Given the description of an element on the screen output the (x, y) to click on. 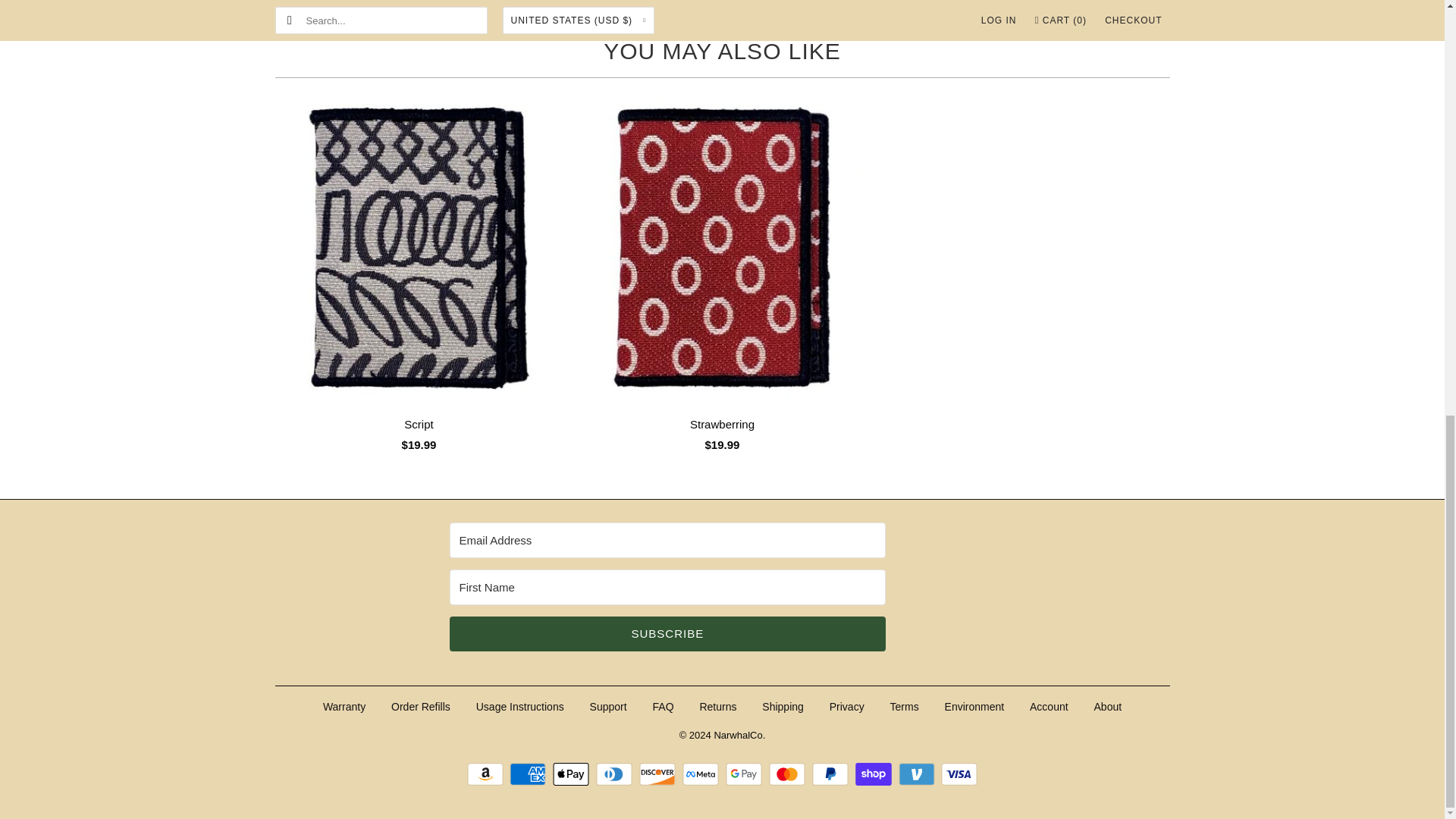
American Express (529, 773)
Amazon (486, 773)
Shop Pay (875, 773)
Diners Club (615, 773)
Visa (958, 773)
PayPal (831, 773)
Venmo (917, 773)
Meta Pay (702, 773)
Mastercard (788, 773)
